Given the description of an element on the screen output the (x, y) to click on. 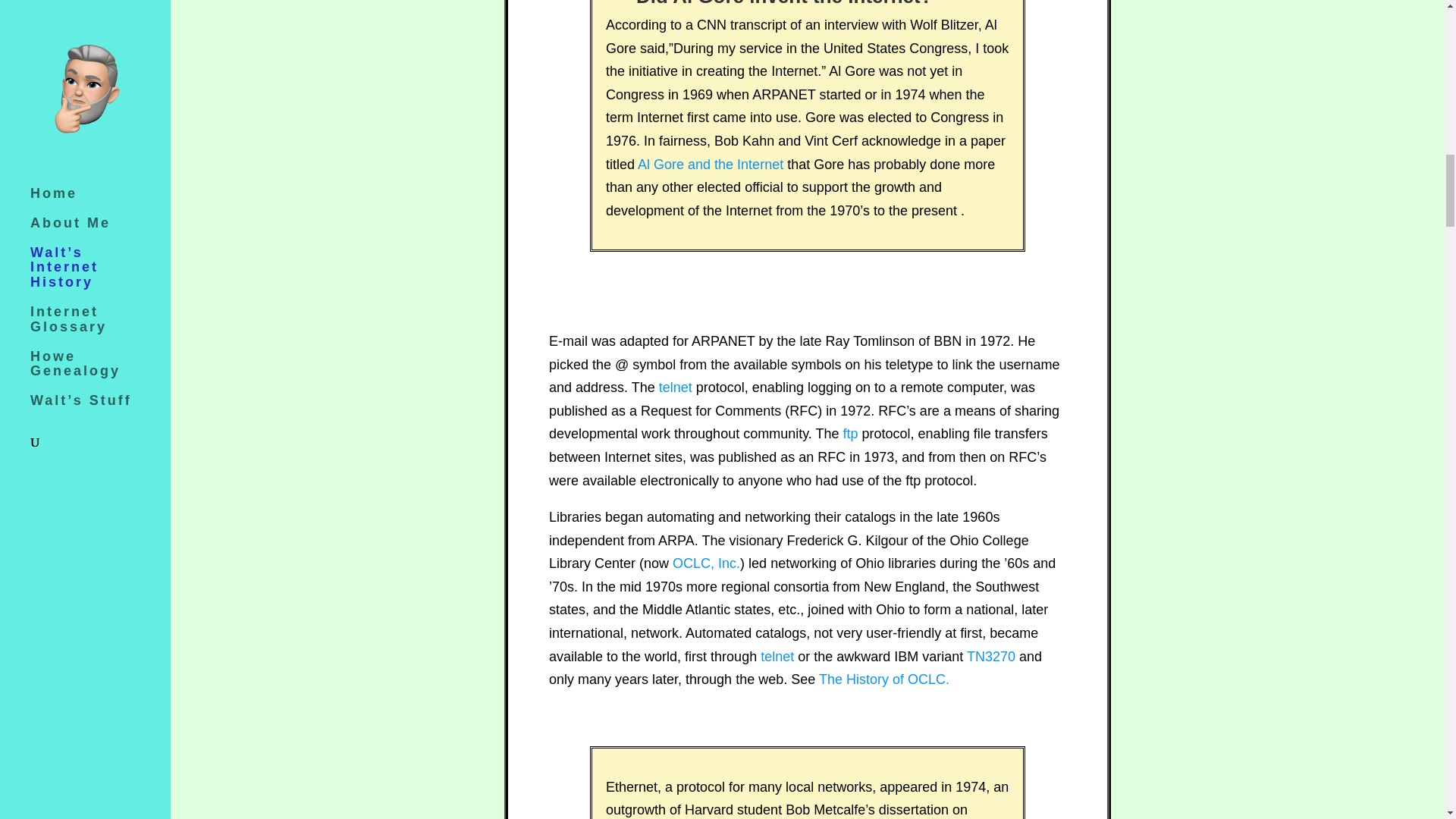
The History of OCLC. (883, 679)
telnet (676, 387)
ftp (851, 433)
Al Gore and the Internet (710, 164)
OCLC, Inc. (705, 563)
telnet (776, 656)
TN3270 (990, 656)
